Given the description of an element on the screen output the (x, y) to click on. 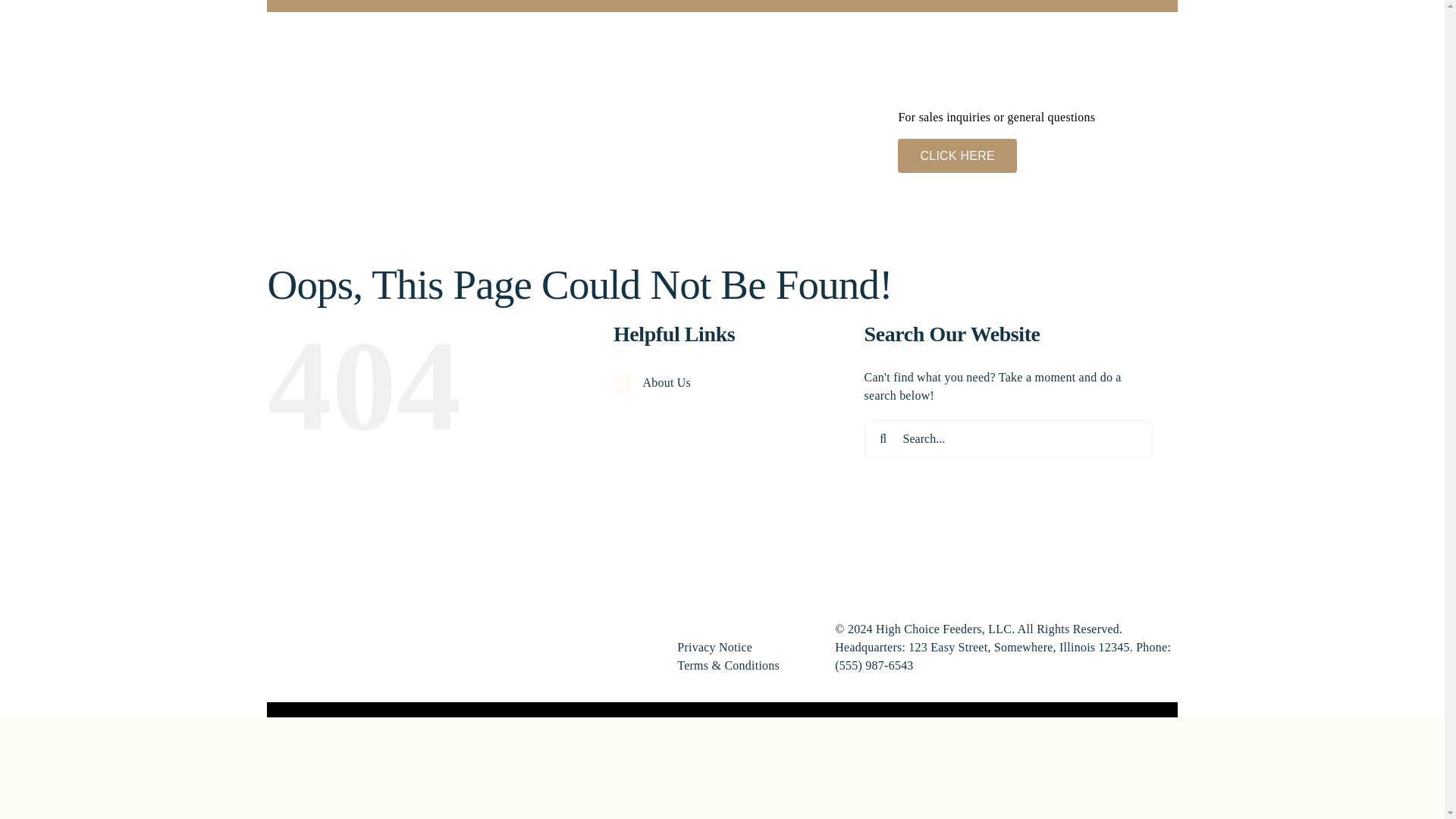
About Us (666, 382)
CLICK HERE (957, 155)
